Given the description of an element on the screen output the (x, y) to click on. 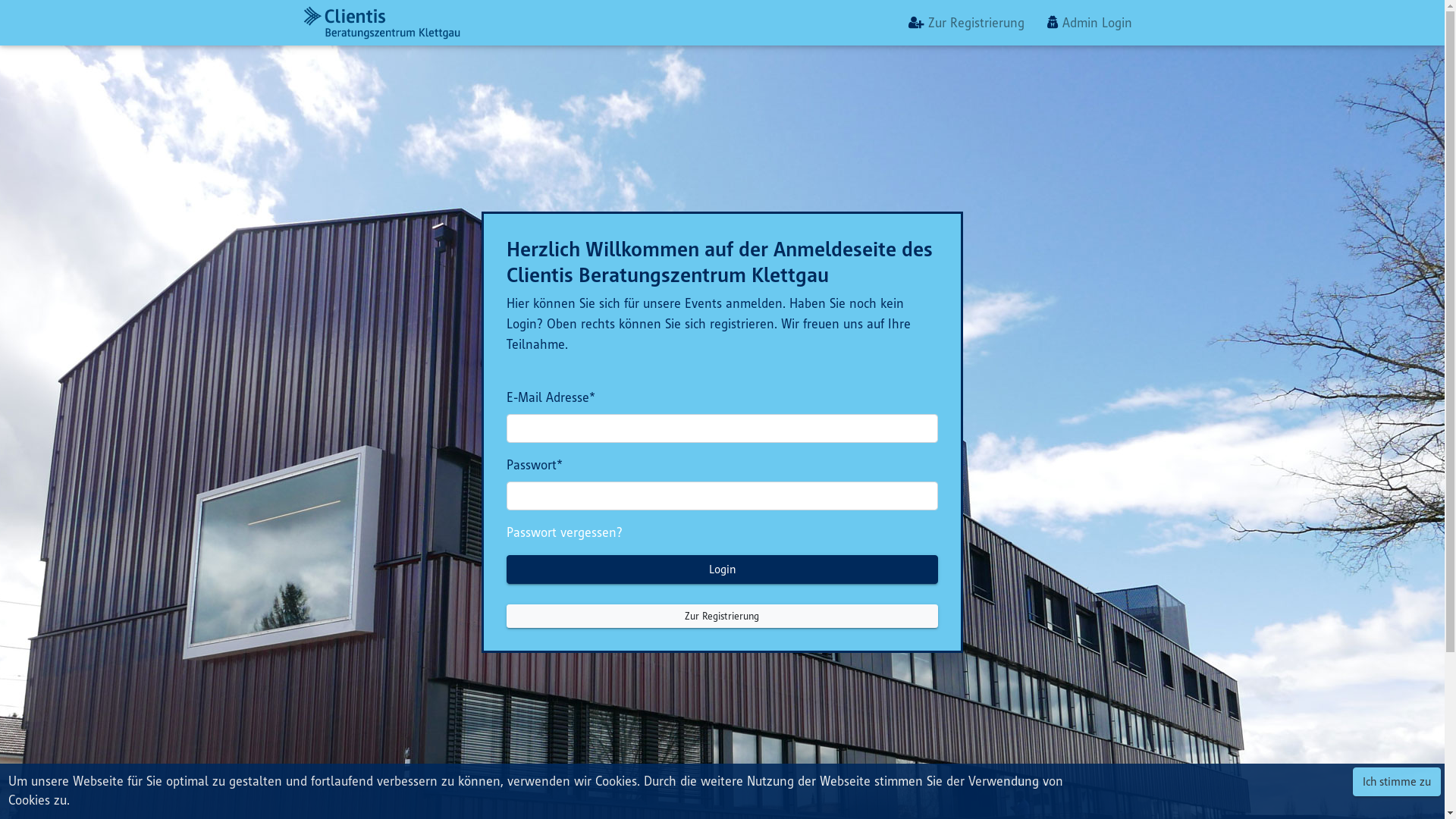
Passwort vergessen? Element type: text (564, 531)
Ich stimme zu Element type: text (1396, 781)
Login Element type: text (722, 569)
Admin Login Element type: text (1089, 22)
Zur Registrierung Element type: text (722, 615)
Zur Registrierung Element type: text (965, 22)
